Given the description of an element on the screen output the (x, y) to click on. 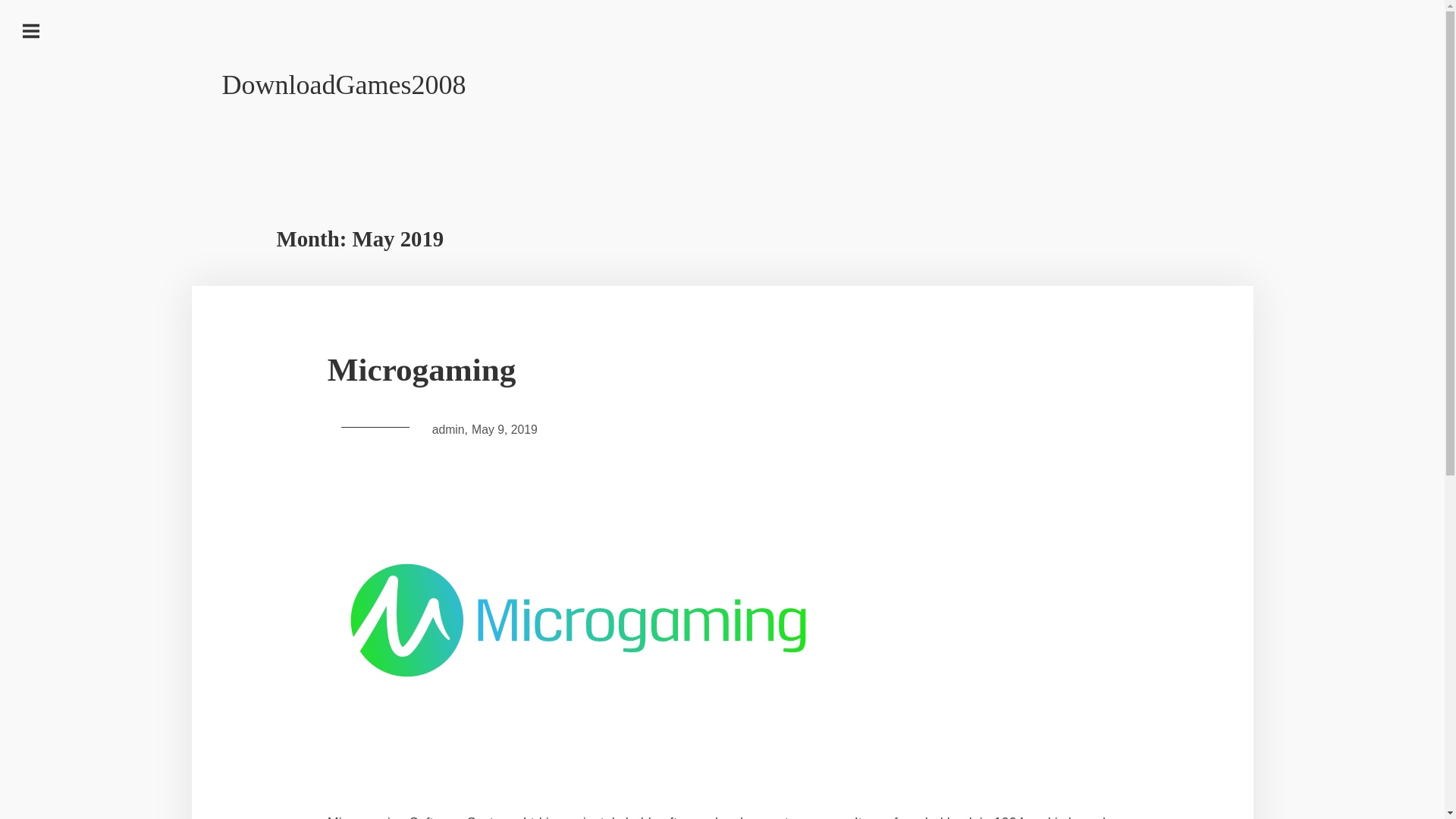
May 9, 2019 (504, 429)
All posts by admin (448, 429)
Microgaming (722, 369)
admin (448, 429)
DownloadGames2008 (343, 84)
